Given the description of an element on the screen output the (x, y) to click on. 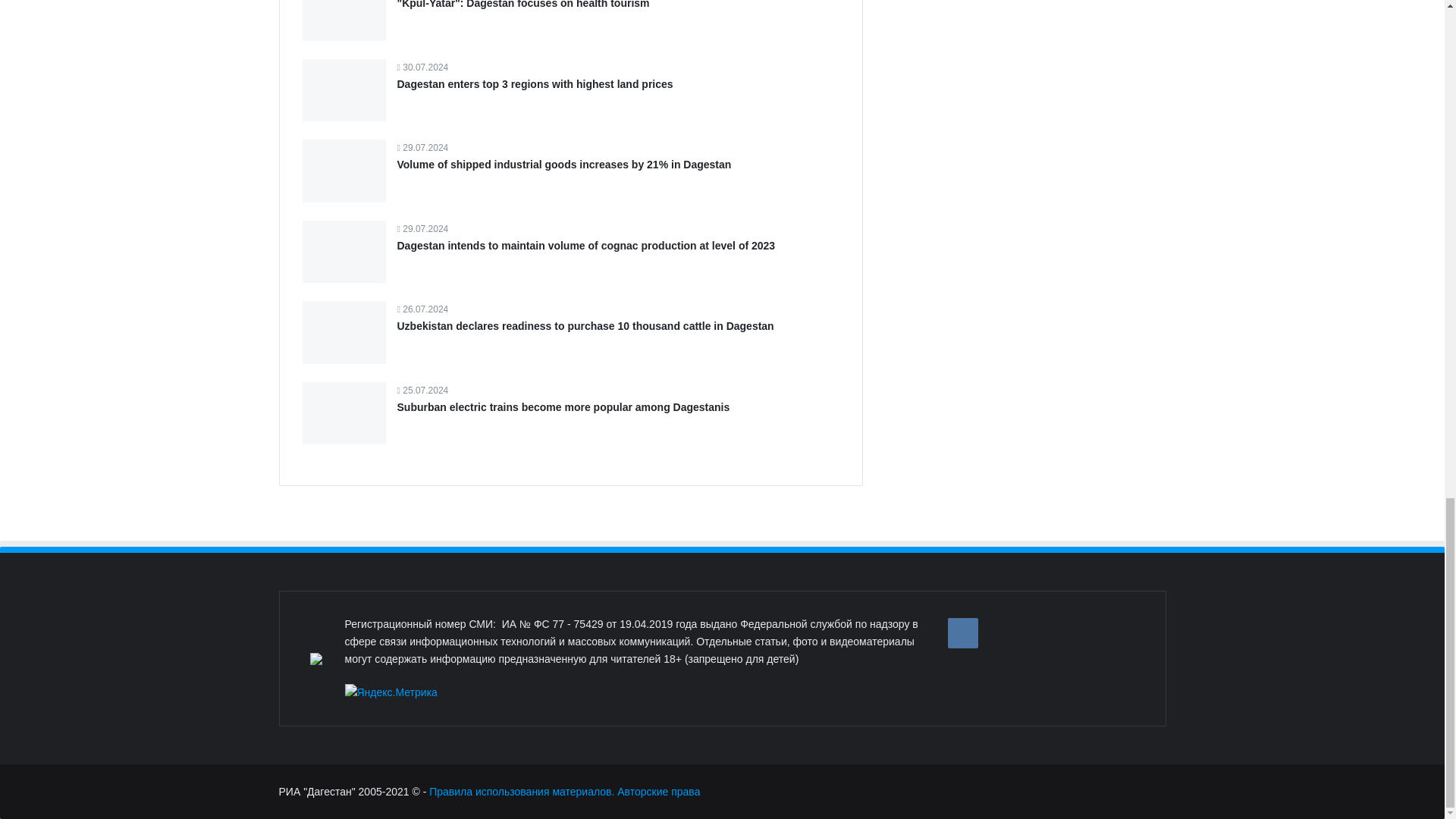
"Kpul-Yatar": Dagestan focuses on health tourism (523, 4)
Dagestan enters top 3 regions with highest land prices (534, 83)
